Given the description of an element on the screen output the (x, y) to click on. 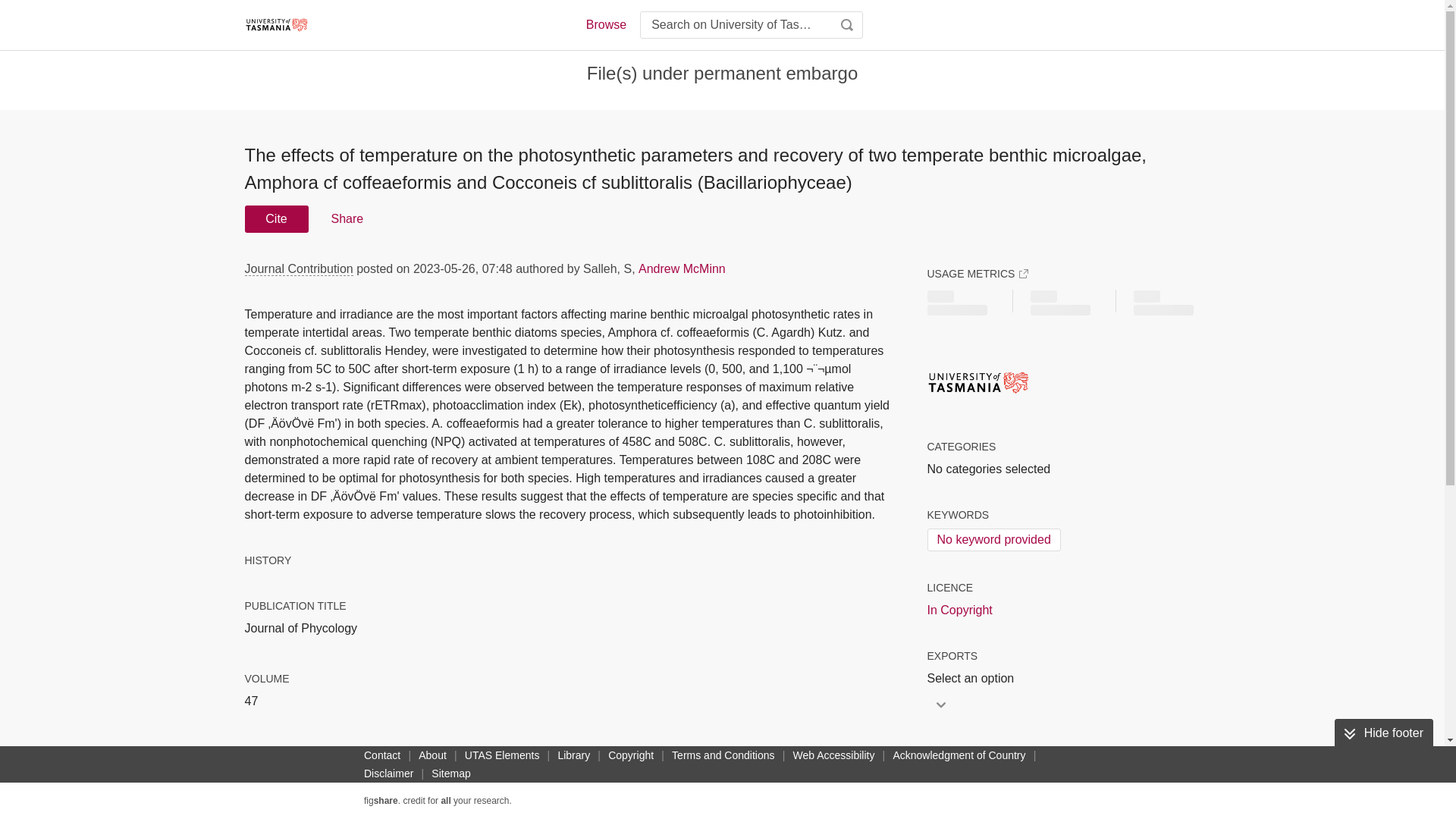
Cite (275, 218)
No keyword provided (992, 539)
Library (573, 755)
Contact (381, 755)
Select an option (974, 678)
In Copyright (958, 610)
Copyright (631, 755)
Browse (605, 24)
Acknowledgment of Country (958, 755)
Share (346, 218)
Web Accessibility (834, 755)
Terms and Conditions (722, 755)
Hide footer (1383, 733)
USAGE METRICS (976, 273)
Andrew McMinn (682, 268)
